Given the description of an element on the screen output the (x, y) to click on. 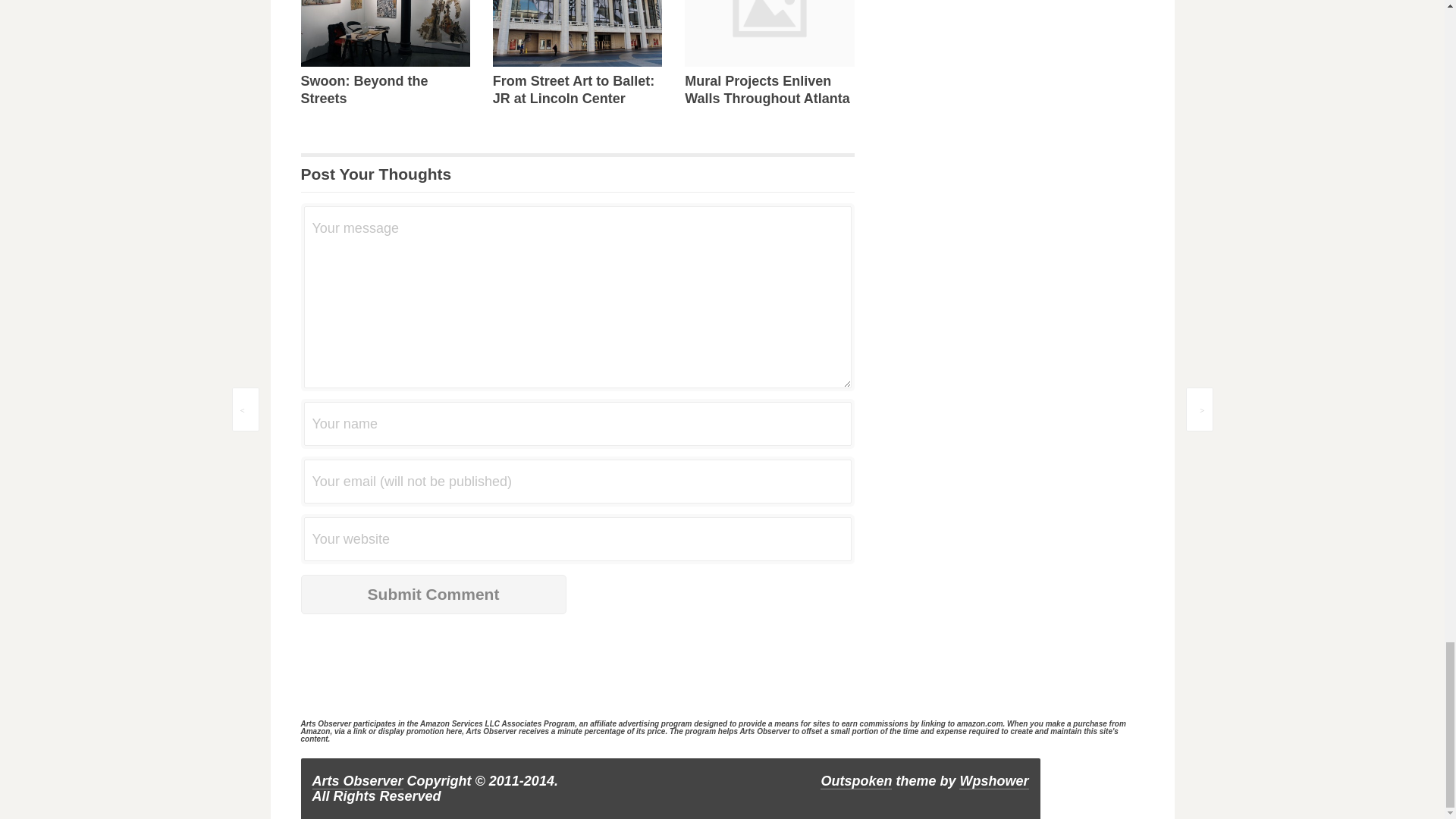
Submit Comment (432, 594)
